Given the description of an element on the screen output the (x, y) to click on. 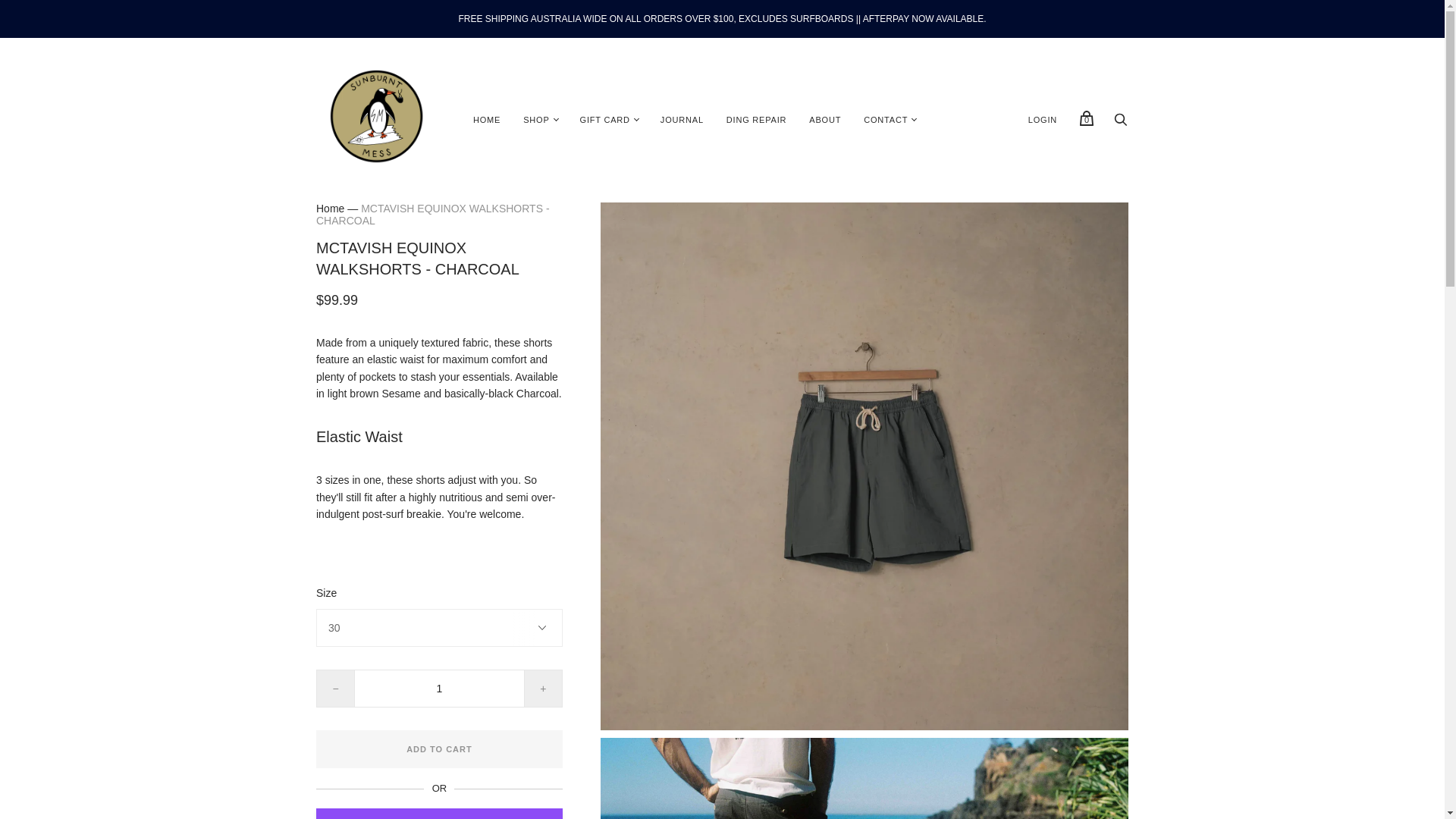
SHOP (536, 120)
HOME (486, 120)
1 (438, 688)
Home (329, 208)
